Given the description of an element on the screen output the (x, y) to click on. 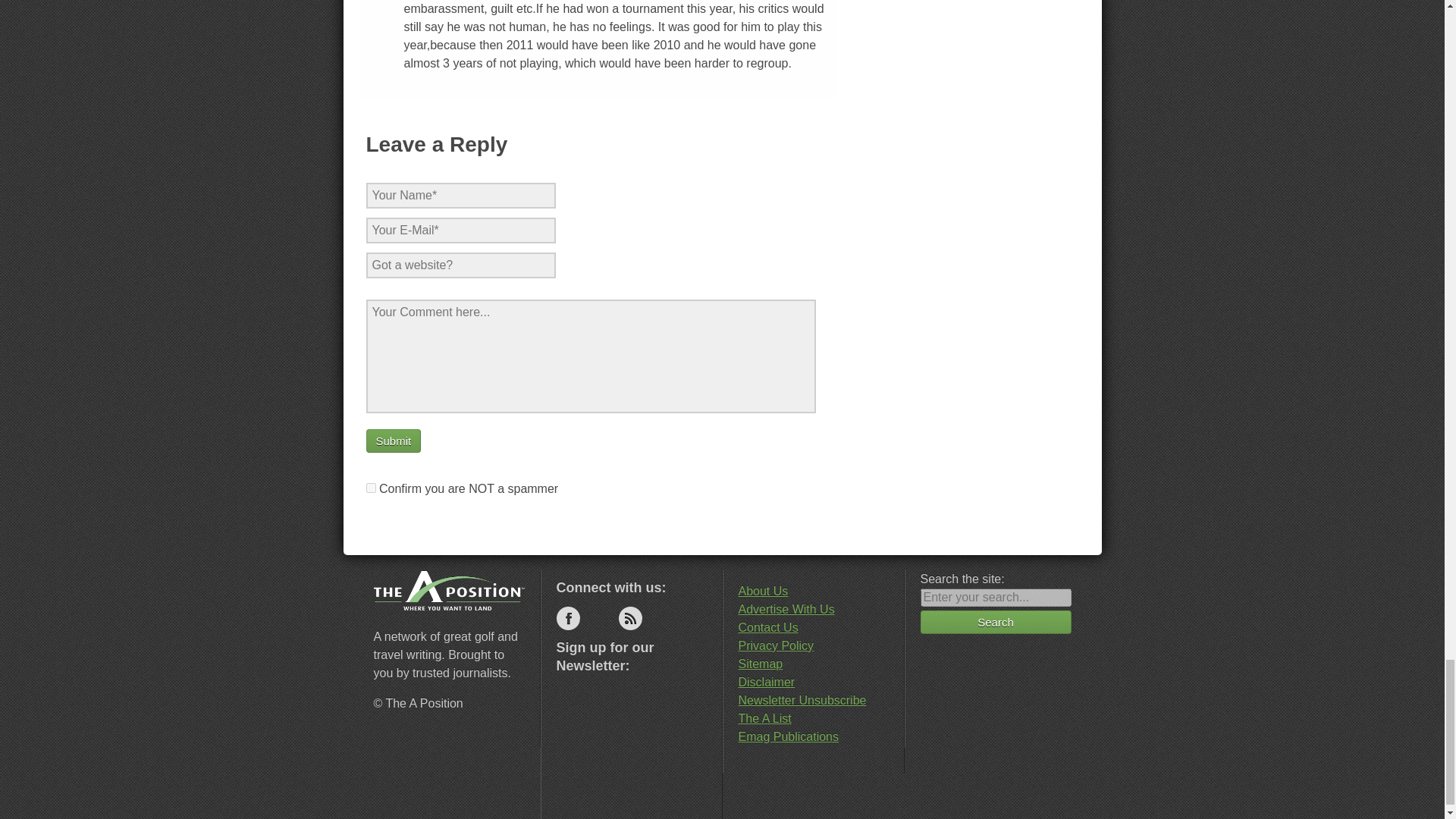
on (370, 488)
Submit (392, 440)
Search (995, 621)
